Given the description of an element on the screen output the (x, y) to click on. 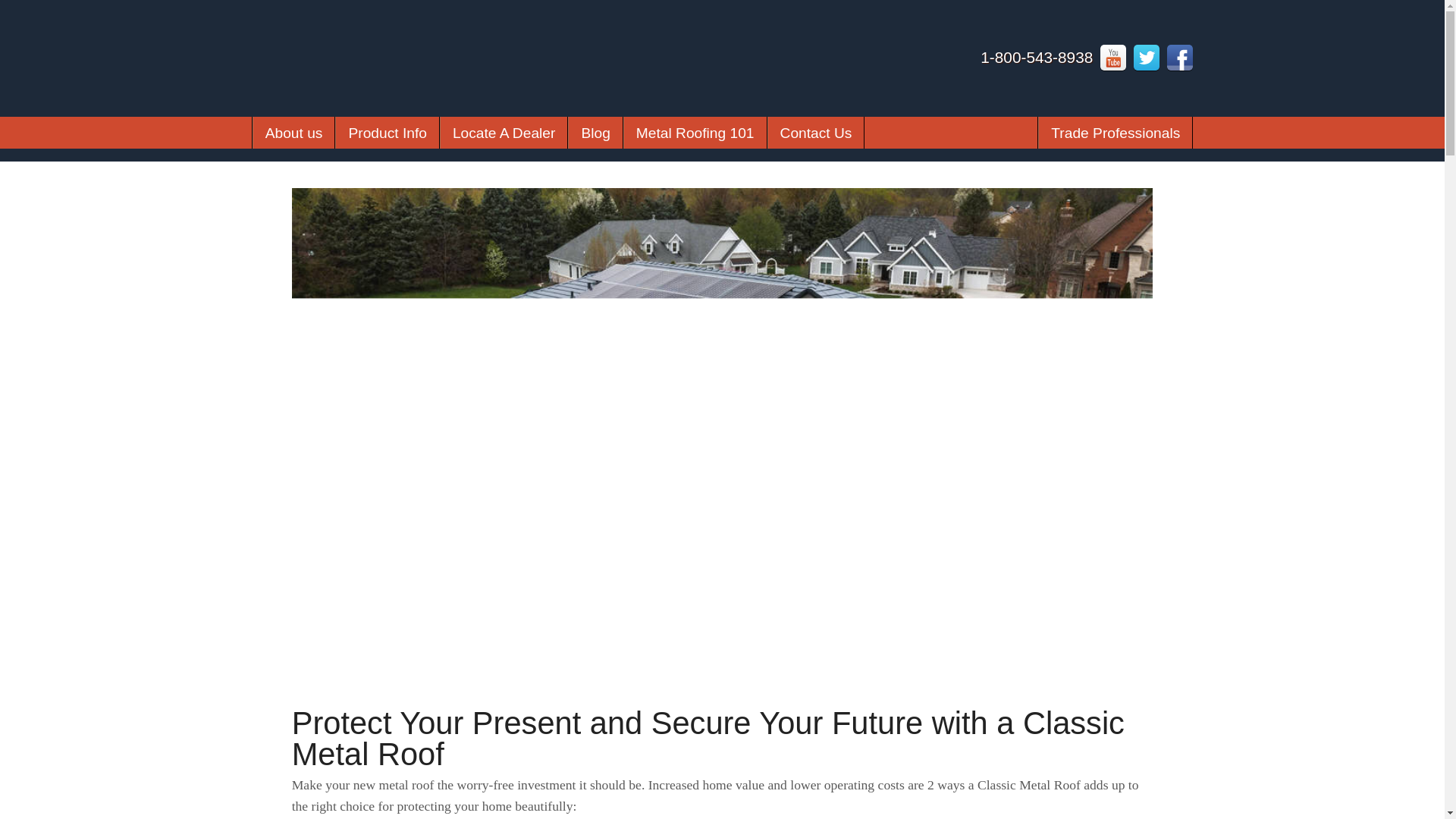
Product Info (387, 132)
1-800-543-8938 (1036, 57)
Locate A Dealer (504, 132)
Twitter (1146, 57)
Classic Metal Roofing Systems (317, 93)
Follow us on Twitter (1146, 57)
Facebook (1179, 57)
Metal Roofing 101 (695, 132)
About us (293, 132)
Blog (595, 132)
YouTube (1112, 57)
Like us on Facebook (1179, 57)
Subscribe to our YouTube Channel (1112, 57)
